Given the description of an element on the screen output the (x, y) to click on. 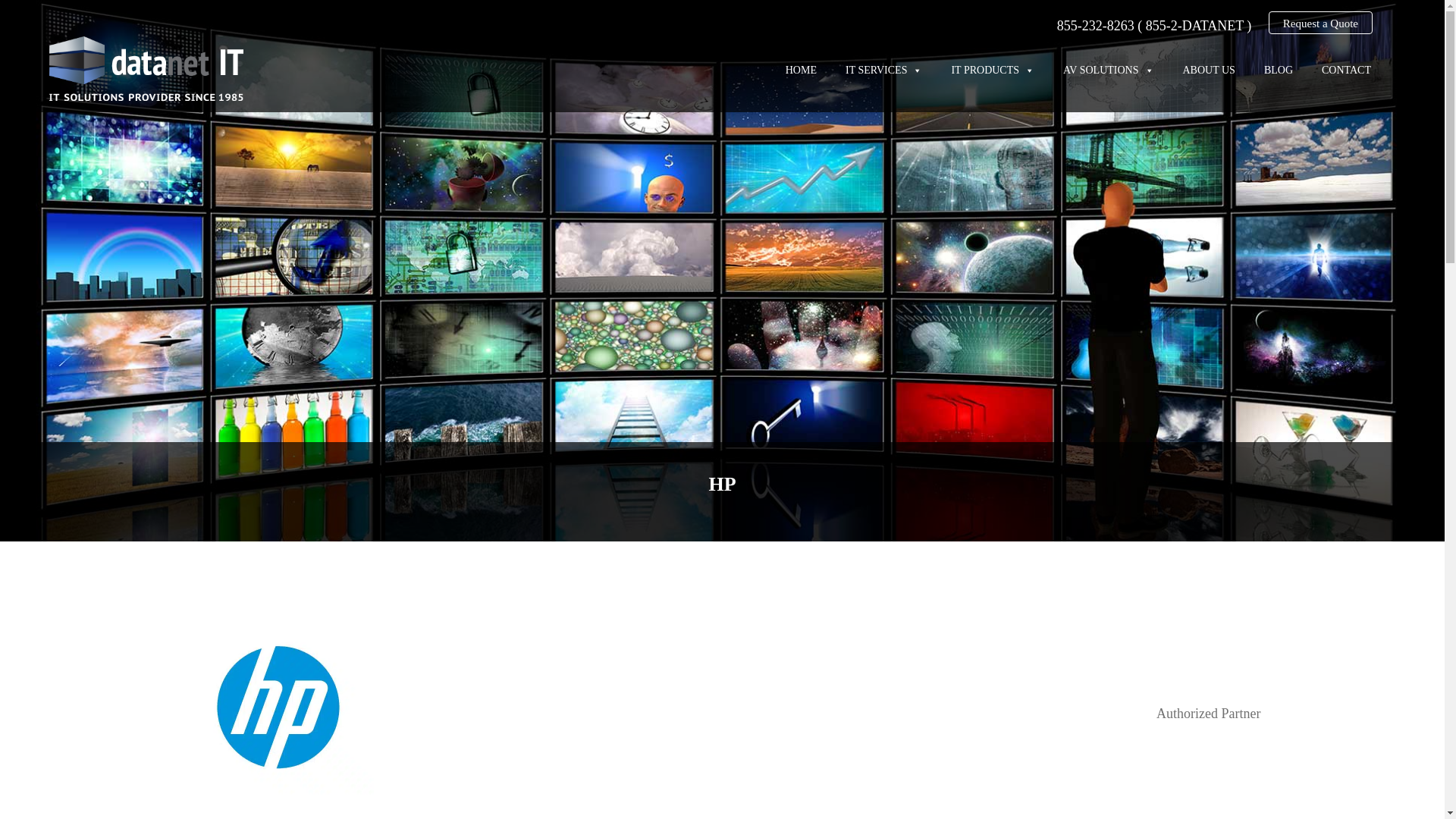
IT PRODUCTS (989, 68)
CONTACT (1344, 68)
Authorized Partner (1208, 713)
Contact Datanet (1320, 22)
ABOUT US (1205, 68)
BLOG (1275, 68)
HOME (798, 68)
AV SOLUTIONS (1105, 68)
IT SERVICES (881, 68)
Request a Quote (1320, 22)
